Given the description of an element on the screen output the (x, y) to click on. 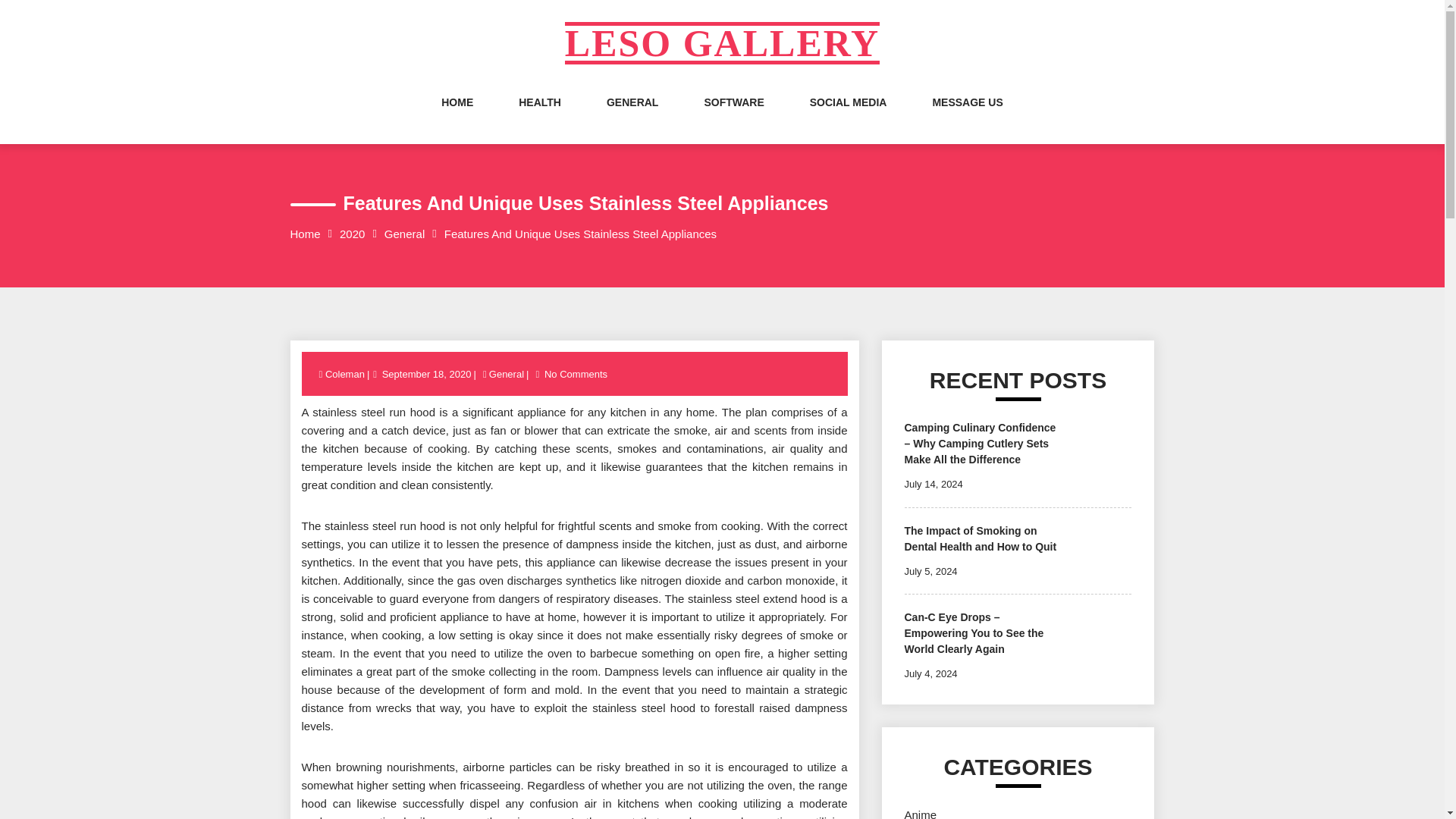
No Comments (575, 374)
SOFTWARE (732, 117)
Anime (920, 813)
HEALTH (539, 117)
General (505, 374)
GENERAL (632, 117)
LESO GALLERY (721, 43)
The Impact of Smoking on Dental Health and How to Quit (980, 538)
September 18, 2020 (427, 374)
SOCIAL MEDIA (847, 117)
General (404, 233)
Coleman (345, 374)
Home (304, 233)
MESSAGE US (967, 117)
2020 (352, 233)
